Given the description of an element on the screen output the (x, y) to click on. 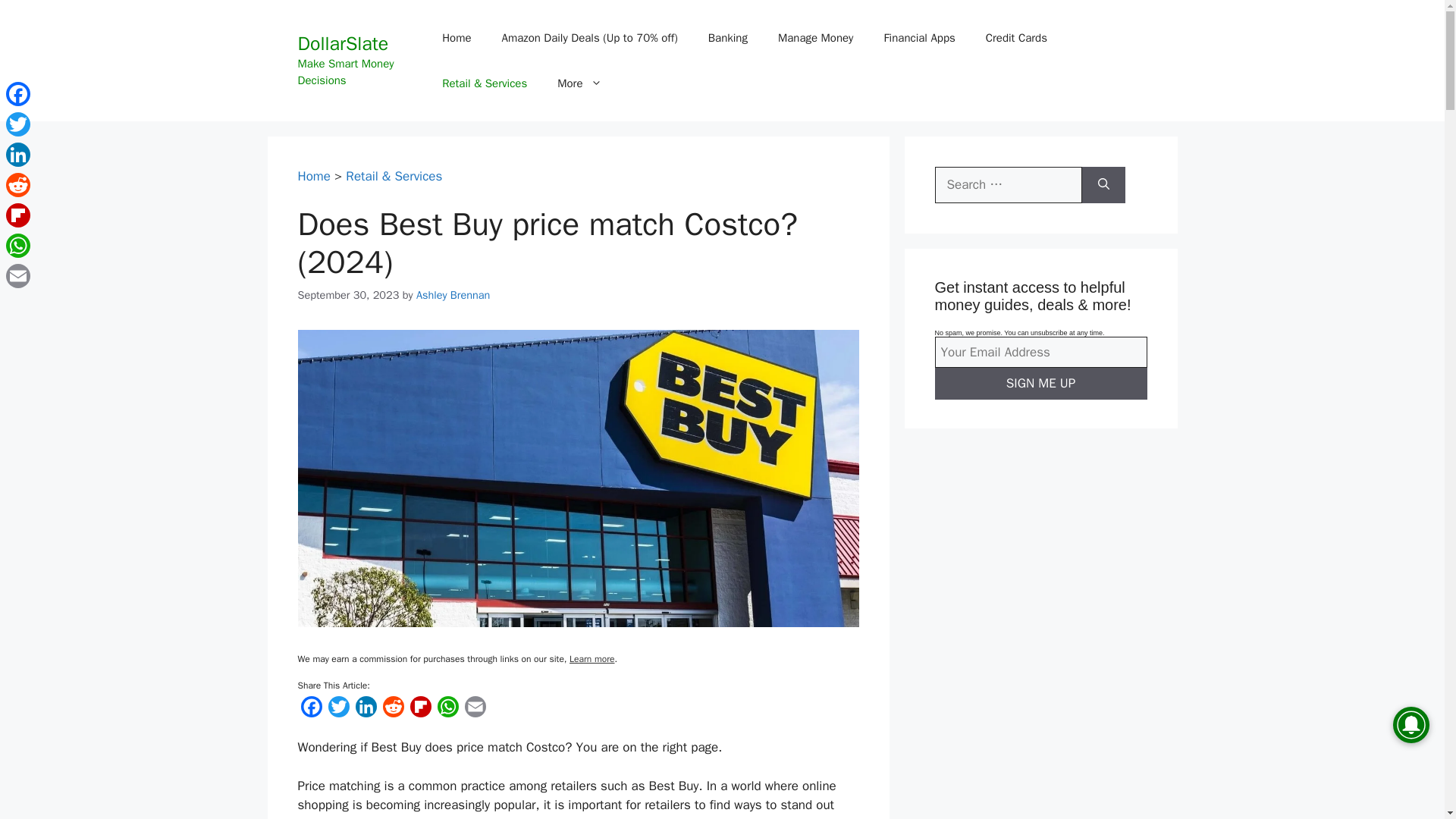
Facebook (310, 709)
Home (456, 37)
Banking (727, 37)
Ashley Brennan (452, 295)
Reddit (392, 709)
Twitter (338, 709)
DollarSlate (342, 43)
More (578, 83)
Twitter (338, 709)
View all posts by Ashley Brennan (452, 295)
